Given the description of an element on the screen output the (x, y) to click on. 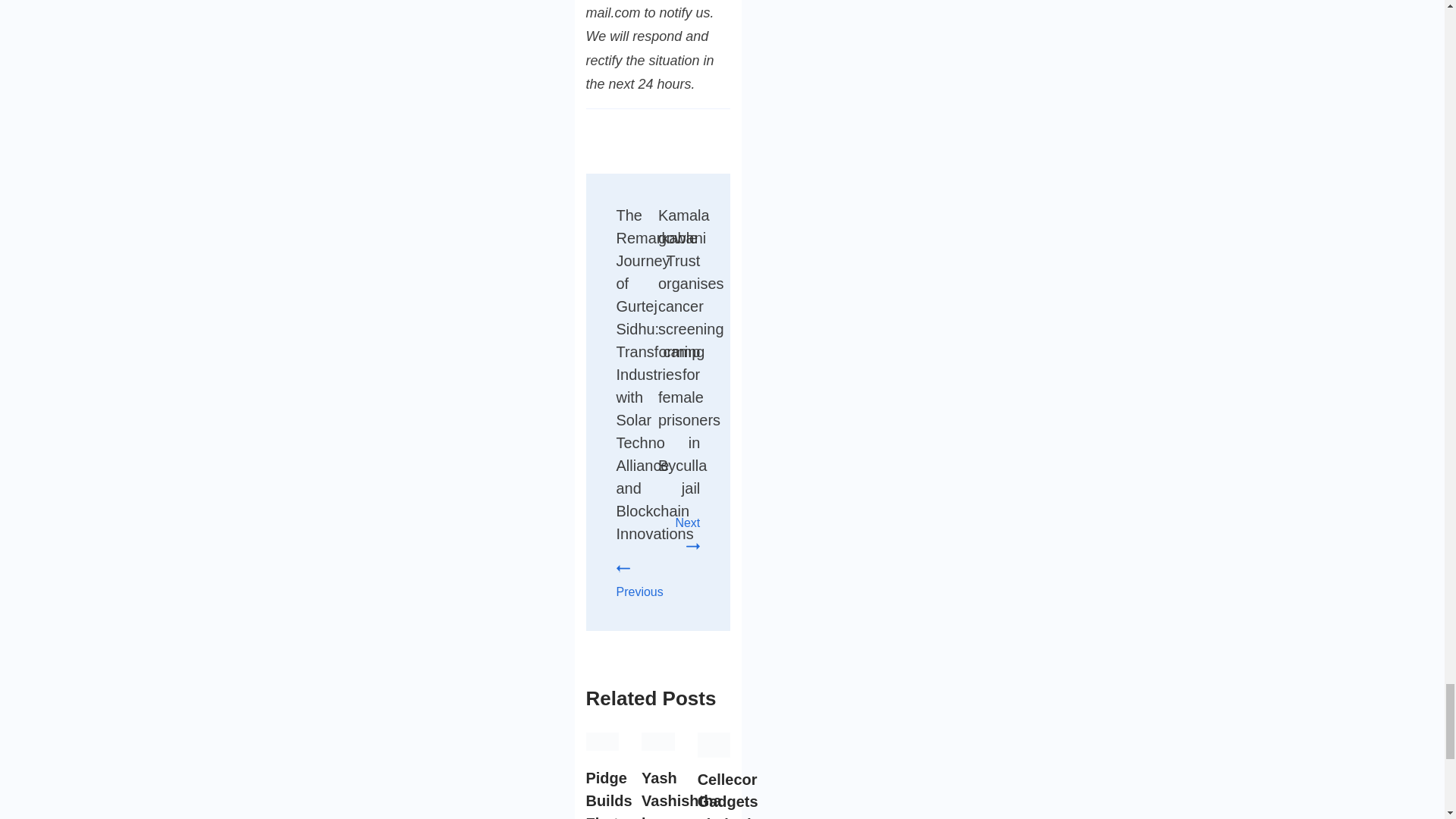
Previous (638, 579)
